Given the description of an element on the screen output the (x, y) to click on. 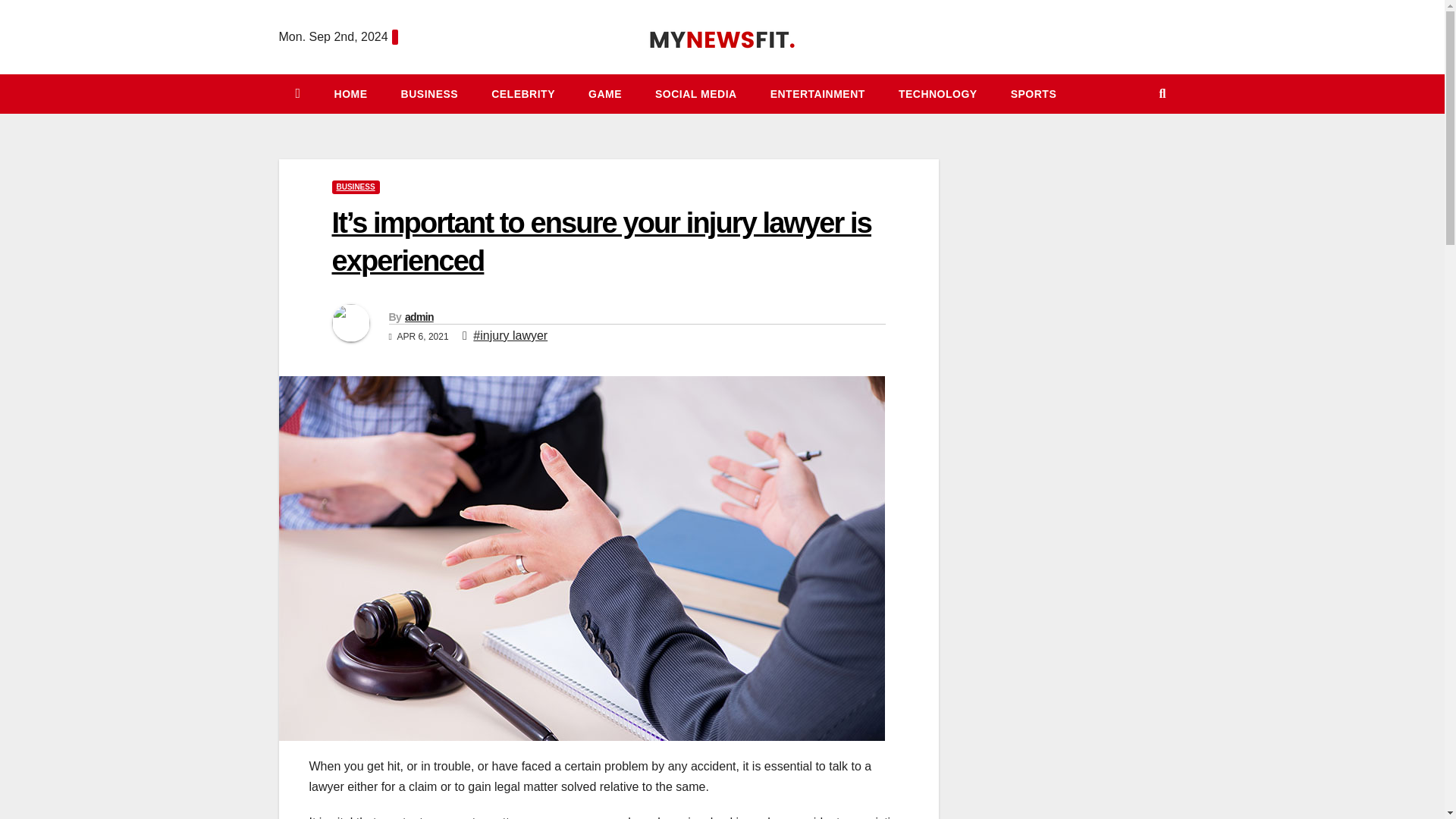
Social Media (696, 93)
Sports (1034, 93)
SPORTS (1034, 93)
Game (605, 93)
Technology (938, 93)
Home (350, 93)
Celebrity (523, 93)
GAME (605, 93)
CELEBRITY (523, 93)
BUSINESS (430, 93)
